Given the description of an element on the screen output the (x, y) to click on. 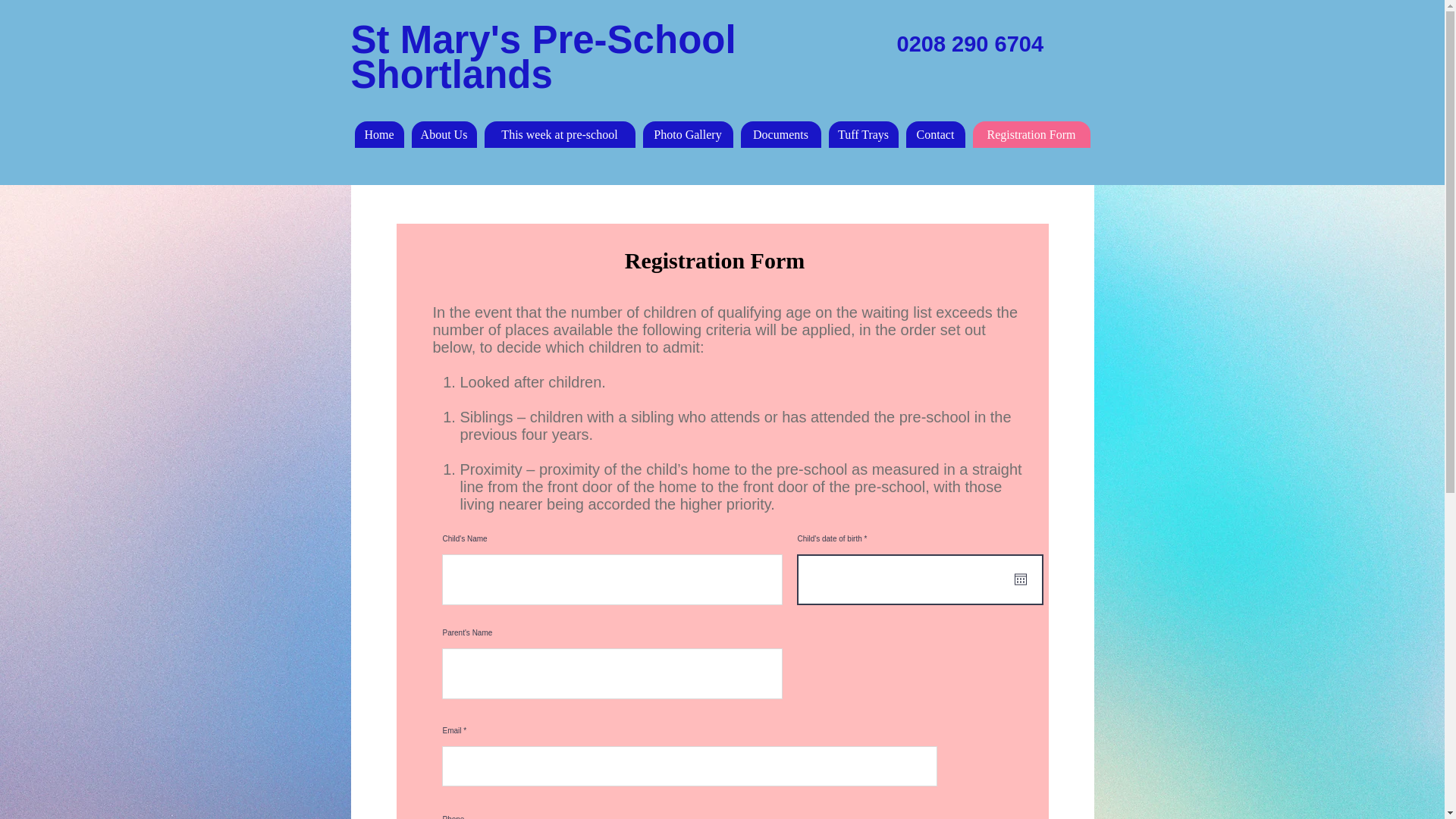
Photo Gallery (688, 134)
Contact (934, 134)
Registration Form (1030, 134)
Tuff Trays (863, 134)
Home (379, 134)
Documents (780, 134)
This week at pre-school (558, 134)
About Us (443, 134)
